Given the description of an element on the screen output the (x, y) to click on. 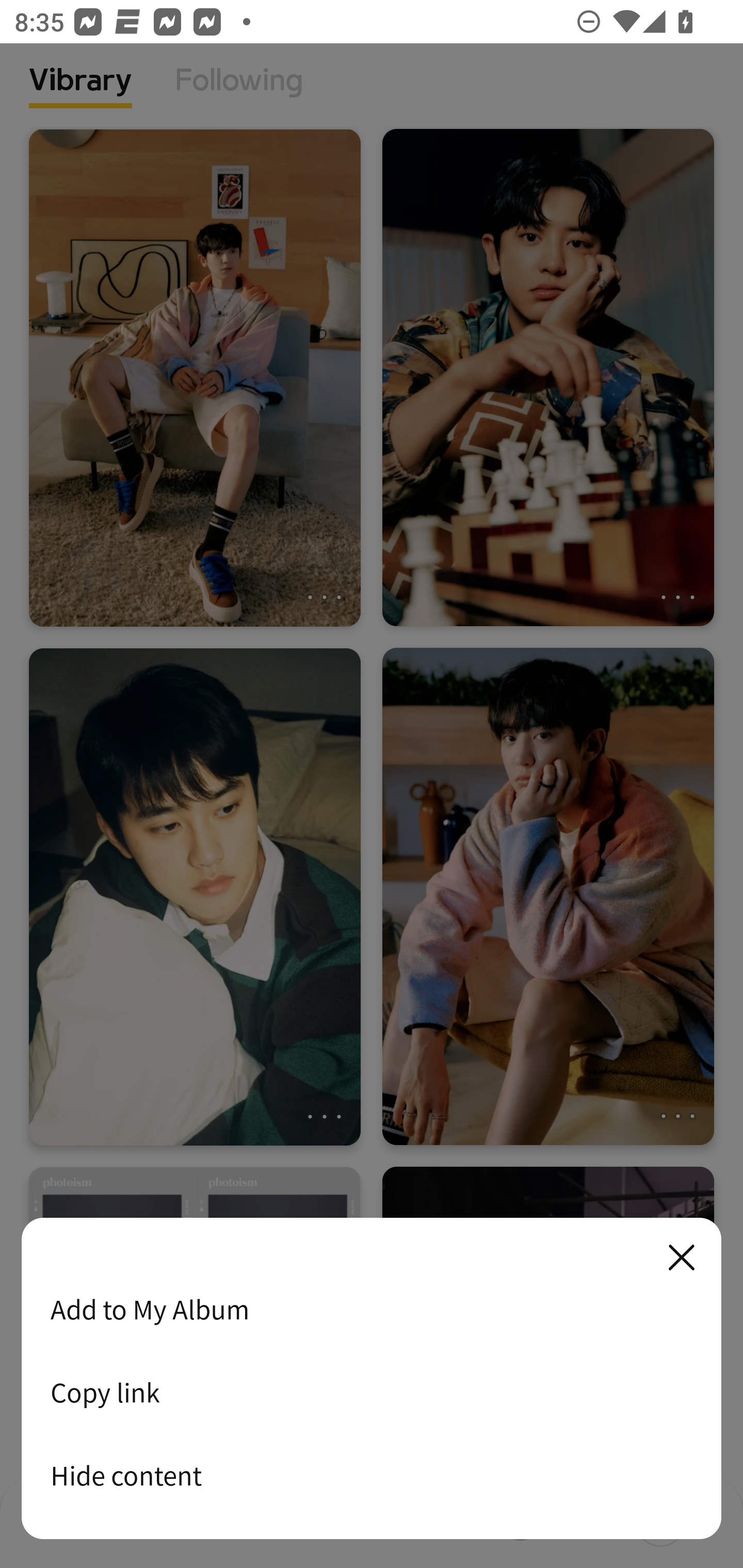
Add to My Album Copy link Hide content (371, 1378)
Add to My Album (371, 1308)
Copy link (371, 1391)
Hide content (371, 1474)
